Given the description of an element on the screen output the (x, y) to click on. 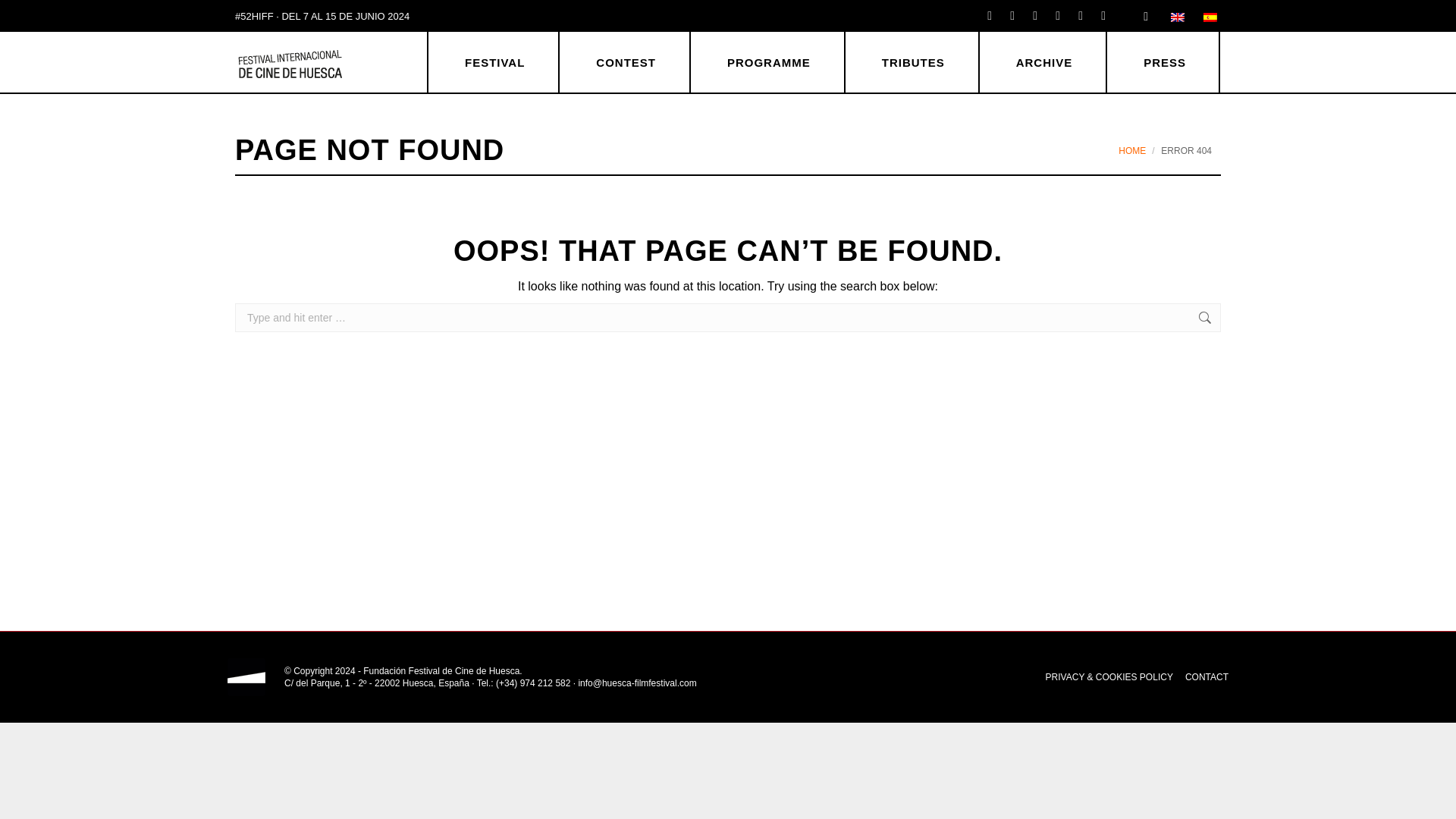
FESTIVAL (493, 61)
Facebook page opens in new window (988, 15)
YouTube page opens in new window (1080, 15)
X page opens in new window (1012, 15)
Mail page opens in new window (1103, 15)
Go! (1246, 321)
Go! (26, 18)
Instagram page opens in new window (1035, 15)
YouTube page opens in new window (1080, 15)
Mail page opens in new window (1103, 15)
Flickr page opens in new window (1057, 15)
Instagram page opens in new window (1035, 15)
X page opens in new window (1012, 15)
Flickr page opens in new window (1057, 15)
Go! (1246, 321)
